Given the description of an element on the screen output the (x, y) to click on. 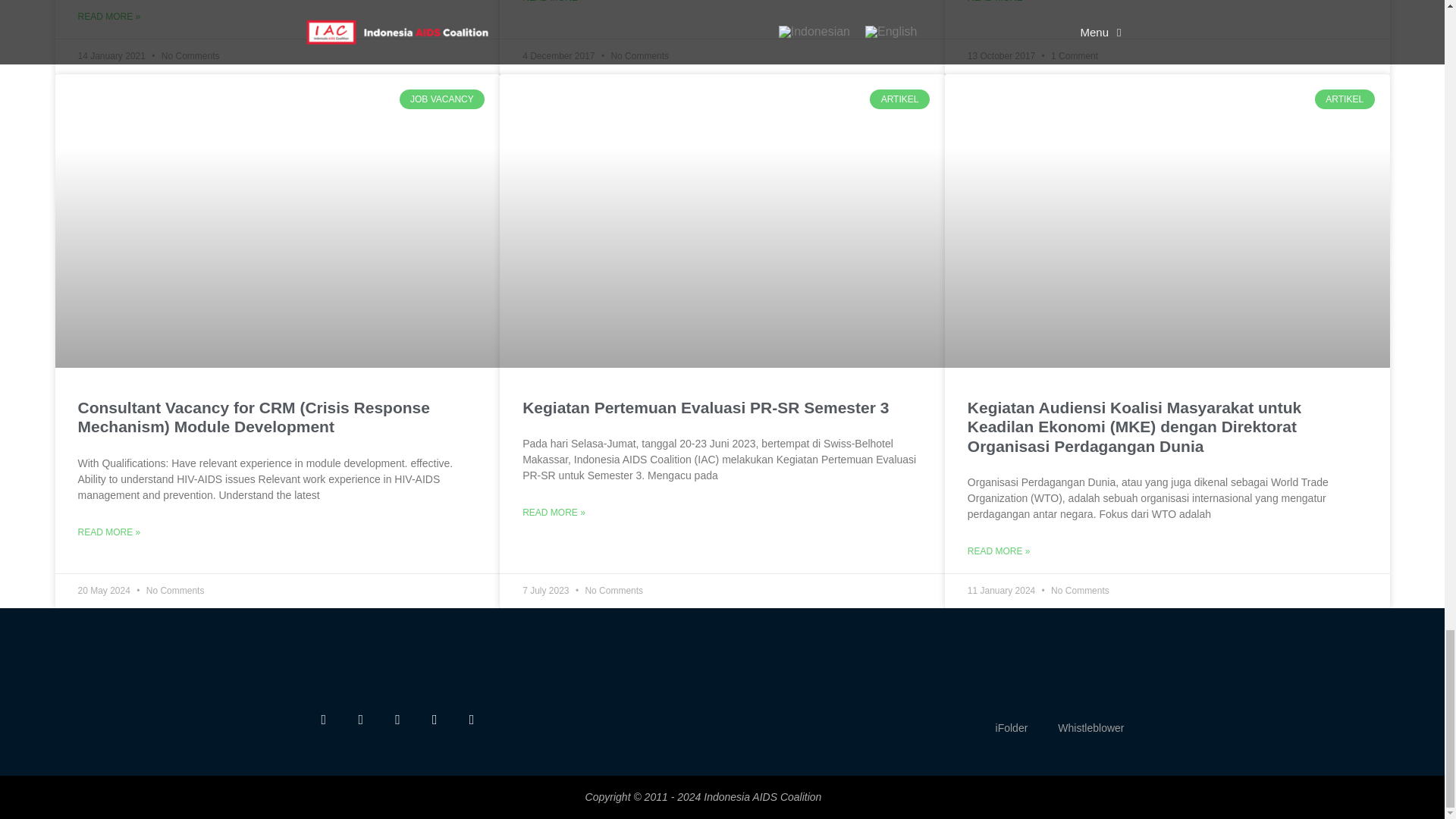
Kegiatan Pertemuan Evaluasi PR-SR Semester 3 (705, 407)
